Given the description of an element on the screen output the (x, y) to click on. 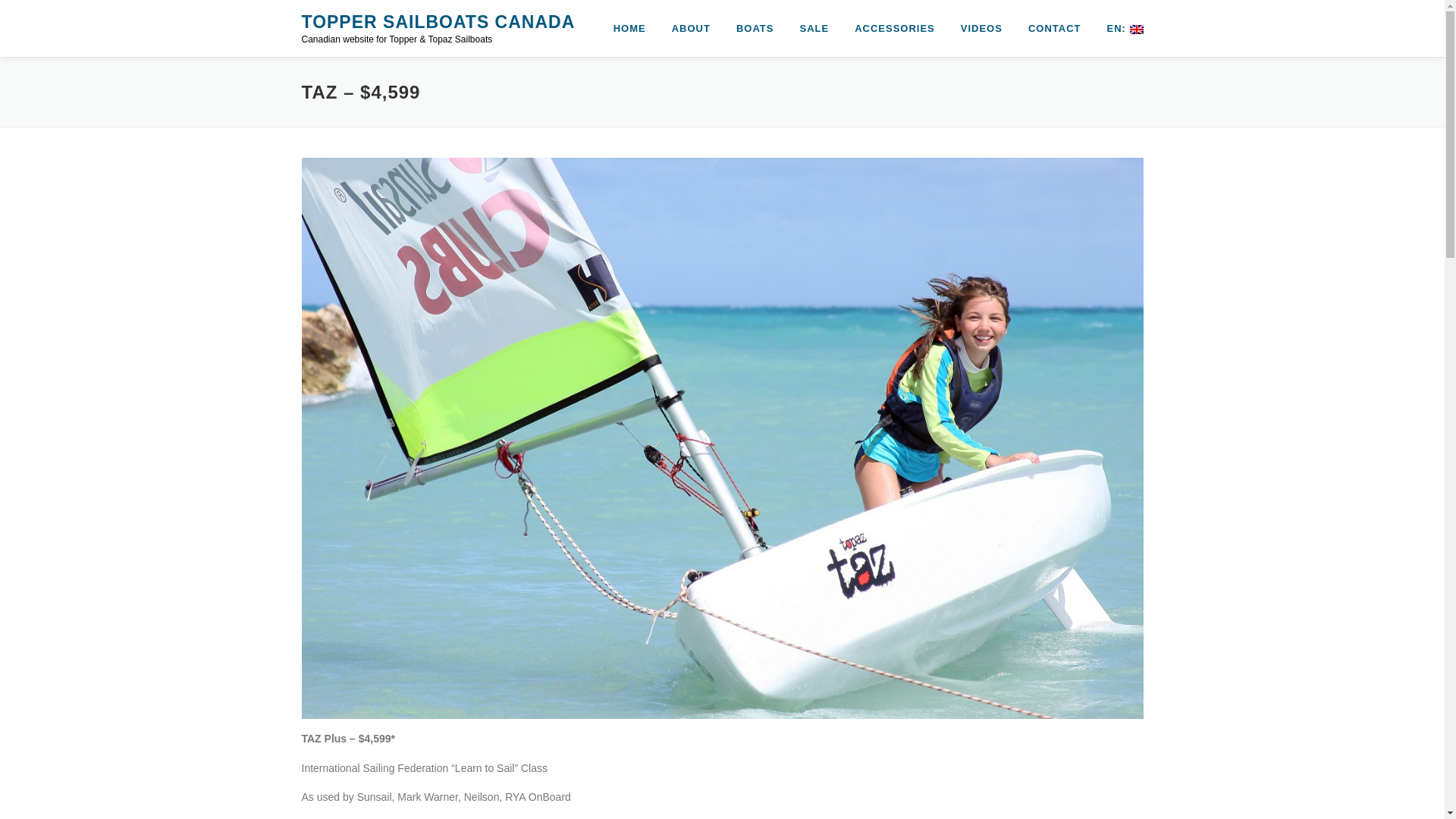
VIDEOS (980, 28)
SALE (813, 28)
ABOUT (691, 28)
ACCESSORIES (894, 28)
English (1117, 28)
TOPPER SAILBOATS CANADA (438, 21)
HOME (629, 28)
CONTACT (1054, 28)
BOATS (755, 28)
EN:  (1117, 28)
